Given the description of an element on the screen output the (x, y) to click on. 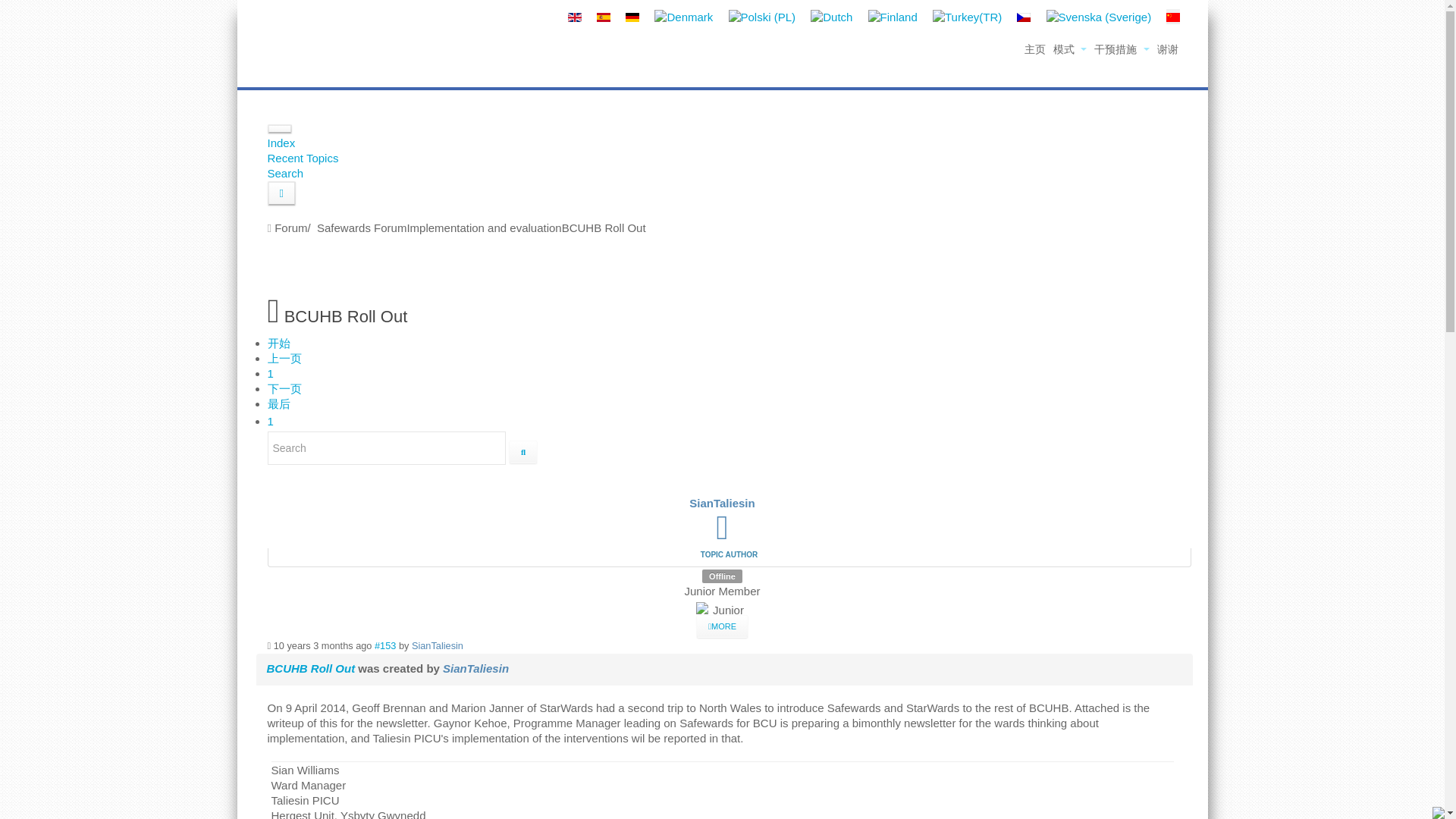
Finland (892, 17)
Search (284, 173)
Recent Topics (301, 157)
Dutch  (830, 17)
Safwards (312, 40)
View SianTaliesin's Profile (721, 502)
Click to see more profile items of this user (722, 626)
Enter here your item to search (385, 448)
german-de (632, 17)
Denmark (683, 17)
View SianTaliesin's Profile (722, 534)
Index (280, 142)
